Given the description of an element on the screen output the (x, y) to click on. 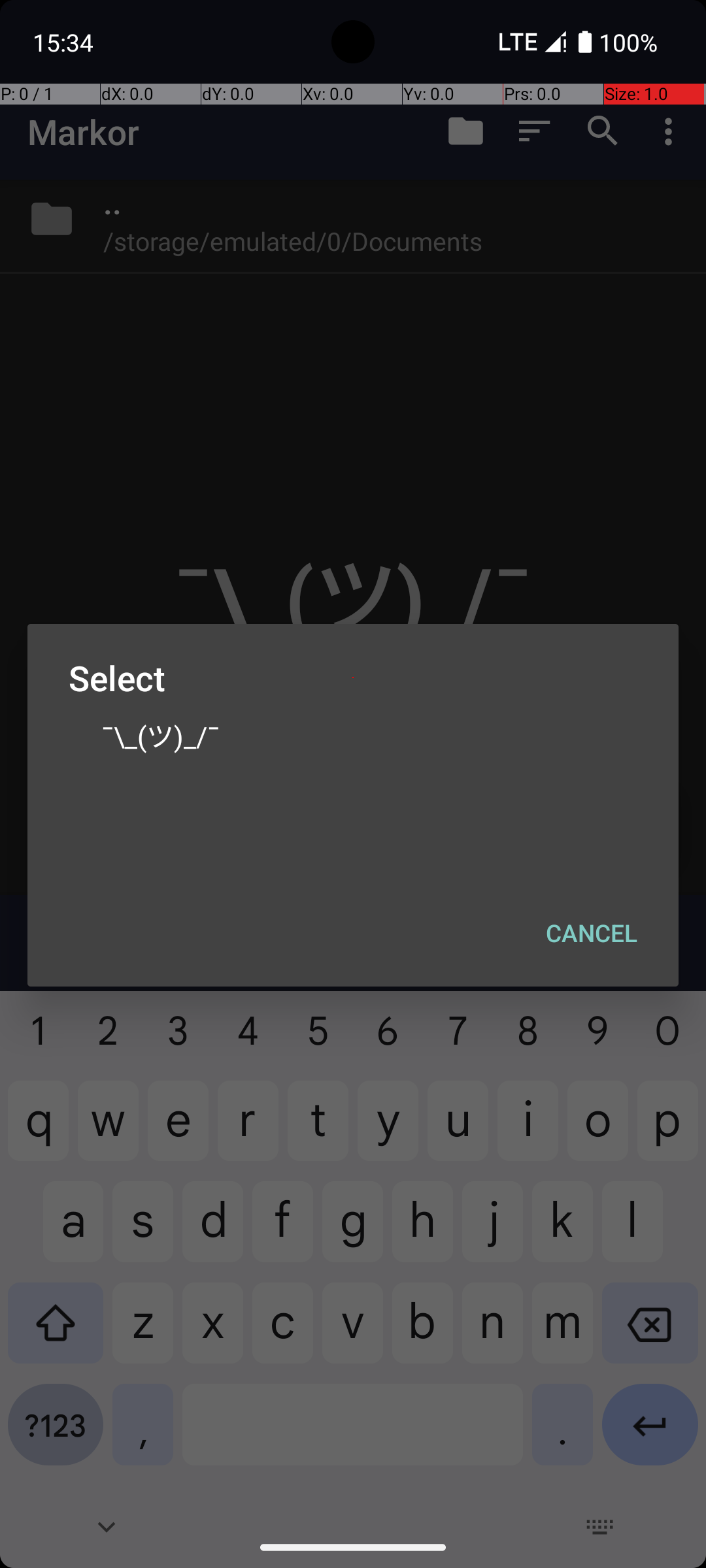
Select Element type: android.widget.TextView (352, 677)
     ¯\_(ツ)_/¯      Element type: android.widget.TextView (352, 734)
